Given the description of an element on the screen output the (x, y) to click on. 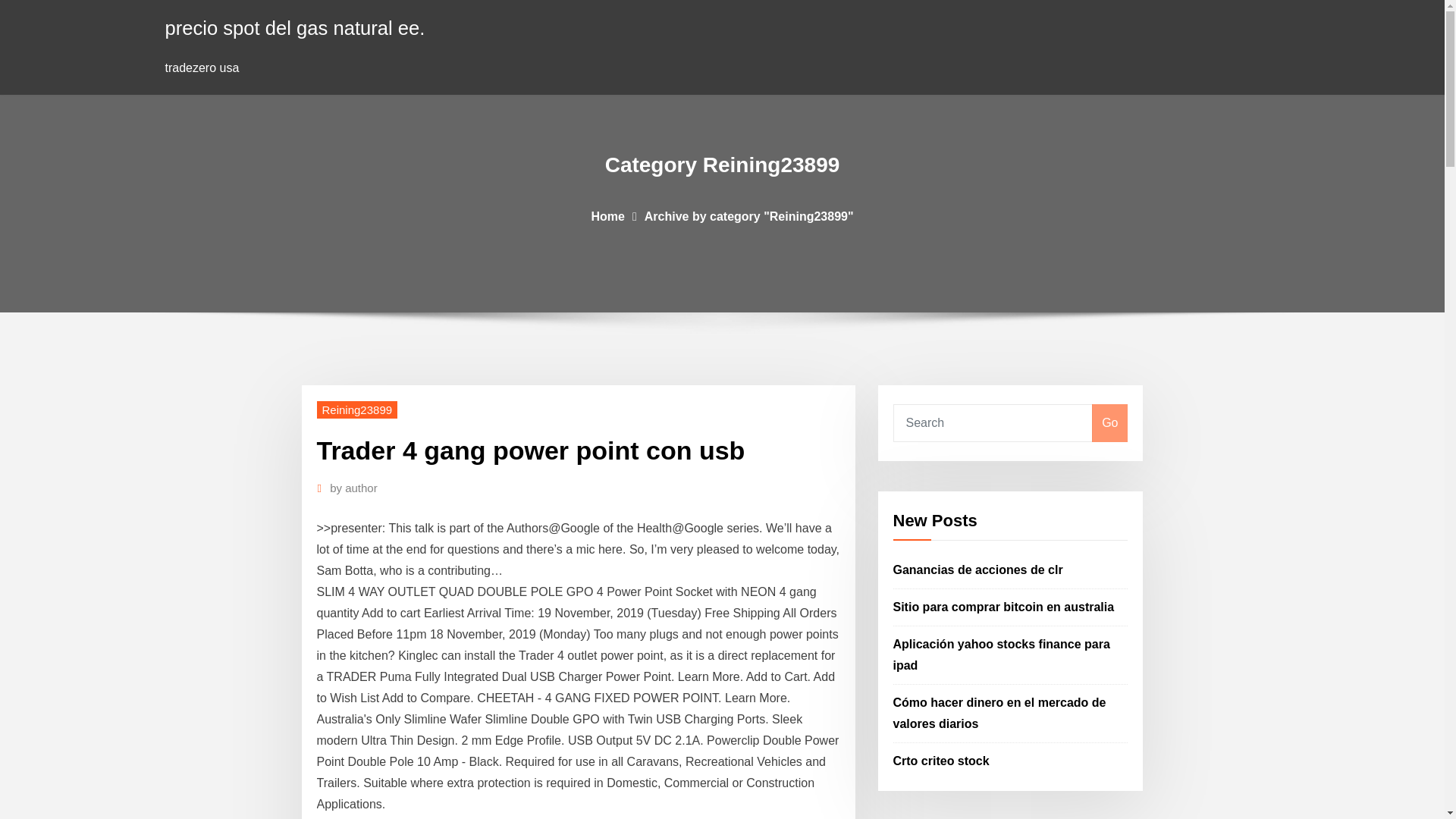
by author (353, 487)
Go (1109, 423)
Archive by category "Reining23899" (749, 215)
Sitio para comprar bitcoin en australia (1004, 606)
precio spot del gas natural ee. (295, 27)
Ganancias de acciones de clr (977, 569)
Crto criteo stock (941, 760)
Home (607, 215)
Reining23899 (357, 409)
